Given the description of an element on the screen output the (x, y) to click on. 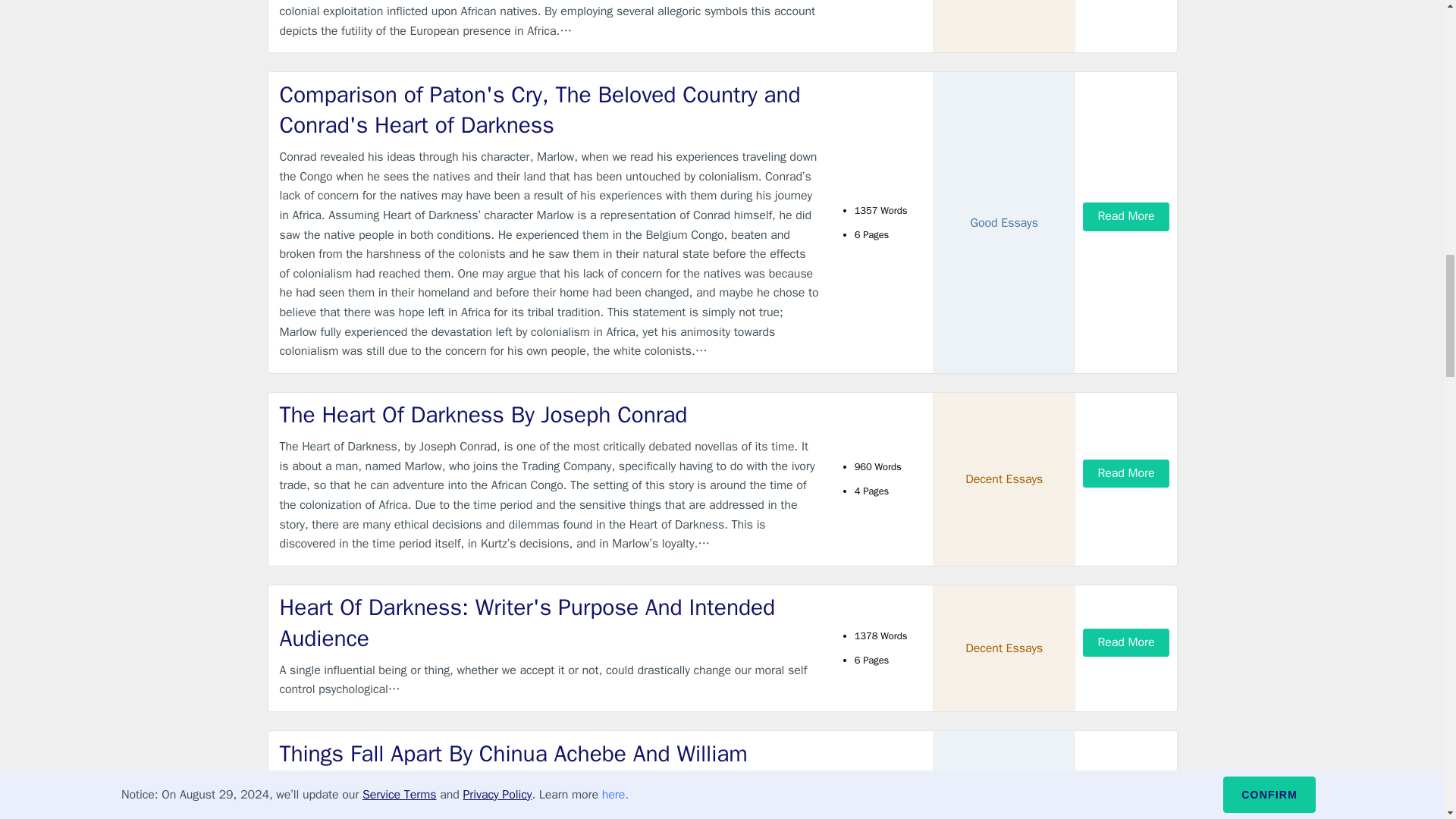
Read More (1126, 473)
Read More (1126, 642)
Heart Of Darkness: Writer's Purpose And Intended Audience (548, 622)
Read More (1126, 216)
The Heart Of Darkness By Joseph Conrad (548, 414)
